Given the description of an element on the screen output the (x, y) to click on. 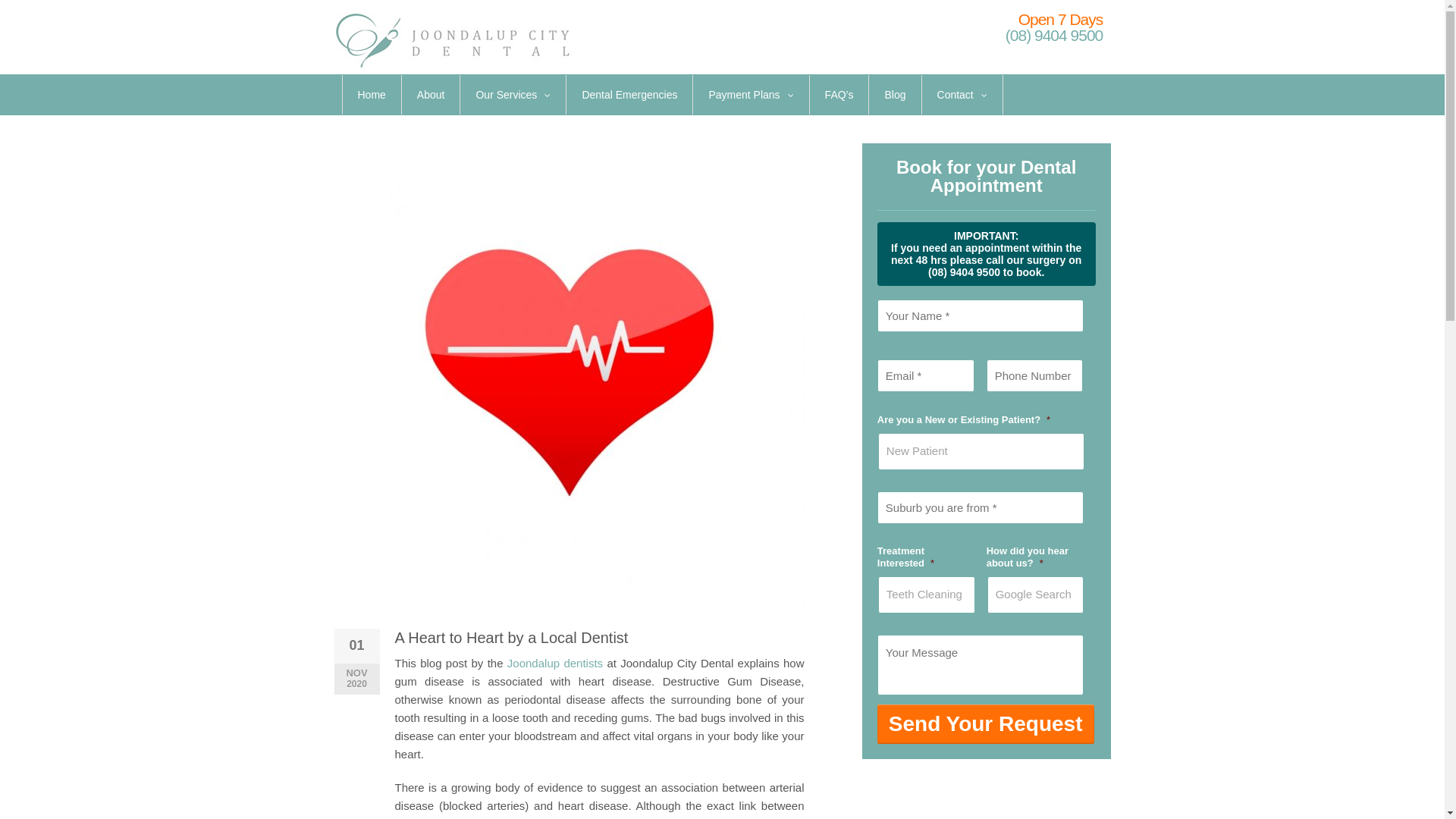
Send Your Request Element type: text (985, 723)
Dental Emergencies Element type: text (629, 94)
A Heart to Heart by a Local Dentist Element type: hover (568, 378)
(08) 9404 9500 Element type: text (1053, 34)
Contact Element type: text (962, 94)
Joondalup dentists Element type: text (554, 662)
Blog Element type: text (894, 94)
Payment Plans Element type: text (750, 94)
Our Services Element type: text (512, 94)
About Element type: text (430, 94)
Home Element type: text (371, 94)
